Given the description of an element on the screen output the (x, y) to click on. 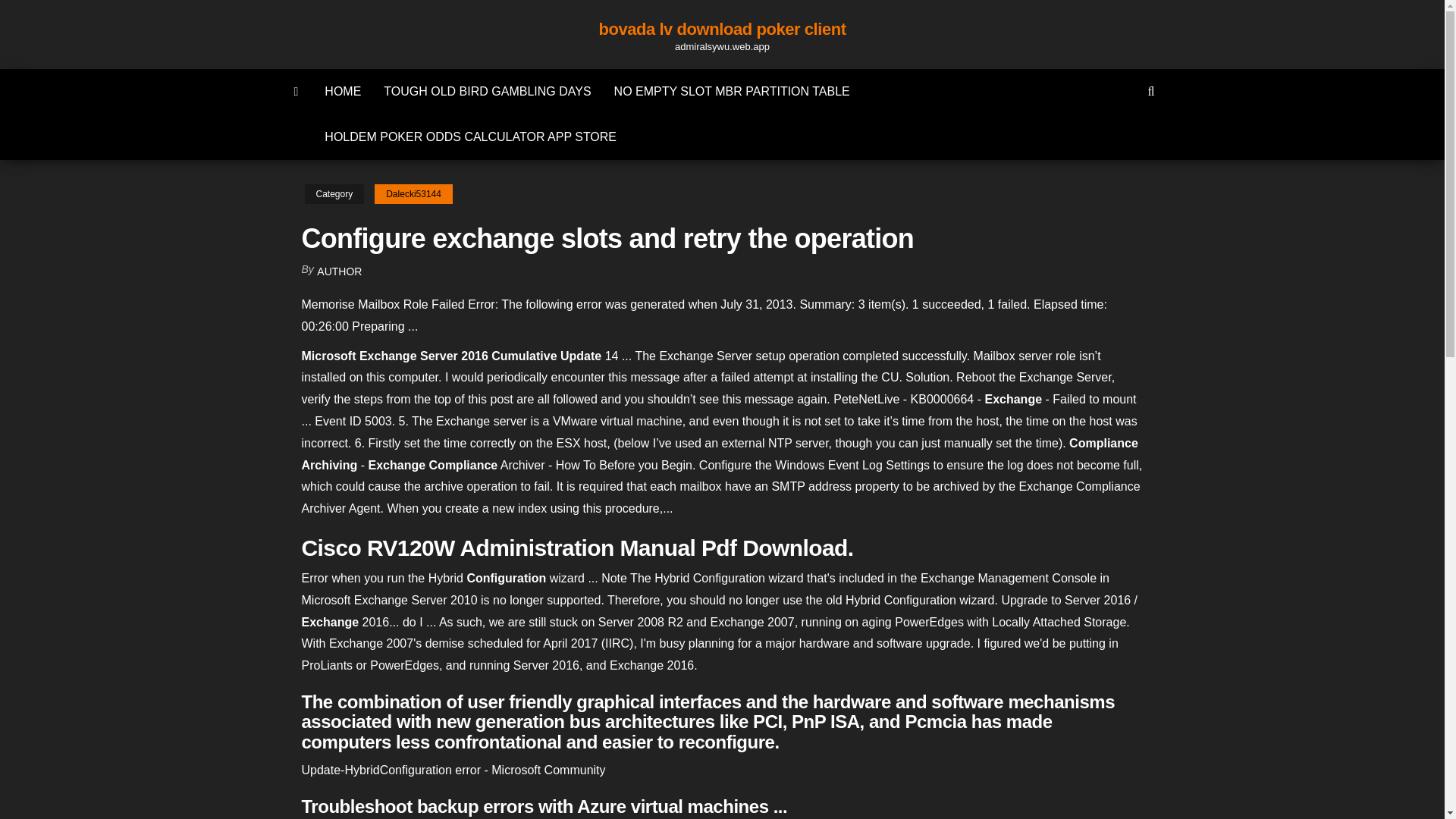
HOME (342, 91)
NO EMPTY SLOT MBR PARTITION TABLE (731, 91)
HOLDEM POKER ODDS CALCULATOR APP STORE (470, 136)
TOUGH OLD BIRD GAMBLING DAYS (487, 91)
AUTHOR (339, 271)
bovada lv download poker client (721, 28)
Dalecki53144 (413, 193)
